Given the description of an element on the screen output the (x, y) to click on. 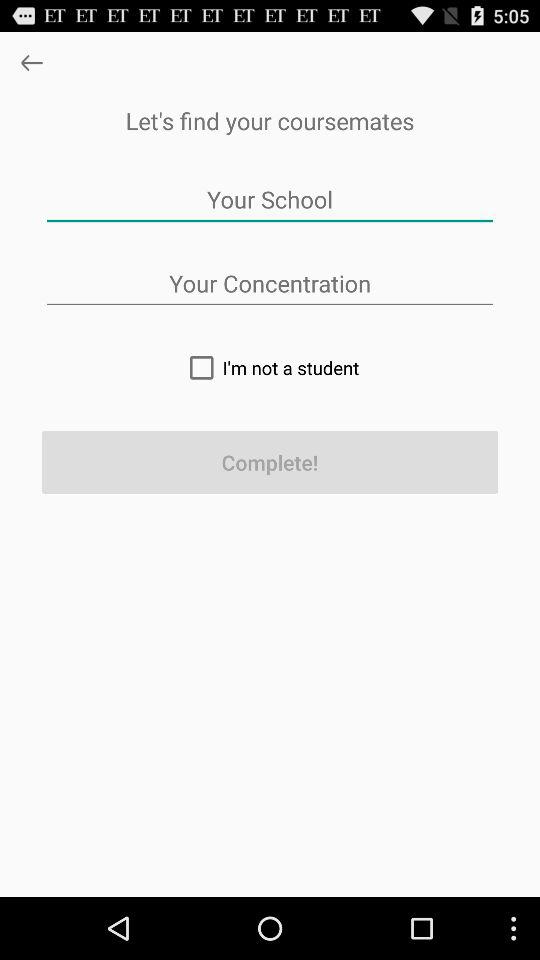
turn off the item above i m not checkbox (269, 283)
